Given the description of an element on the screen output the (x, y) to click on. 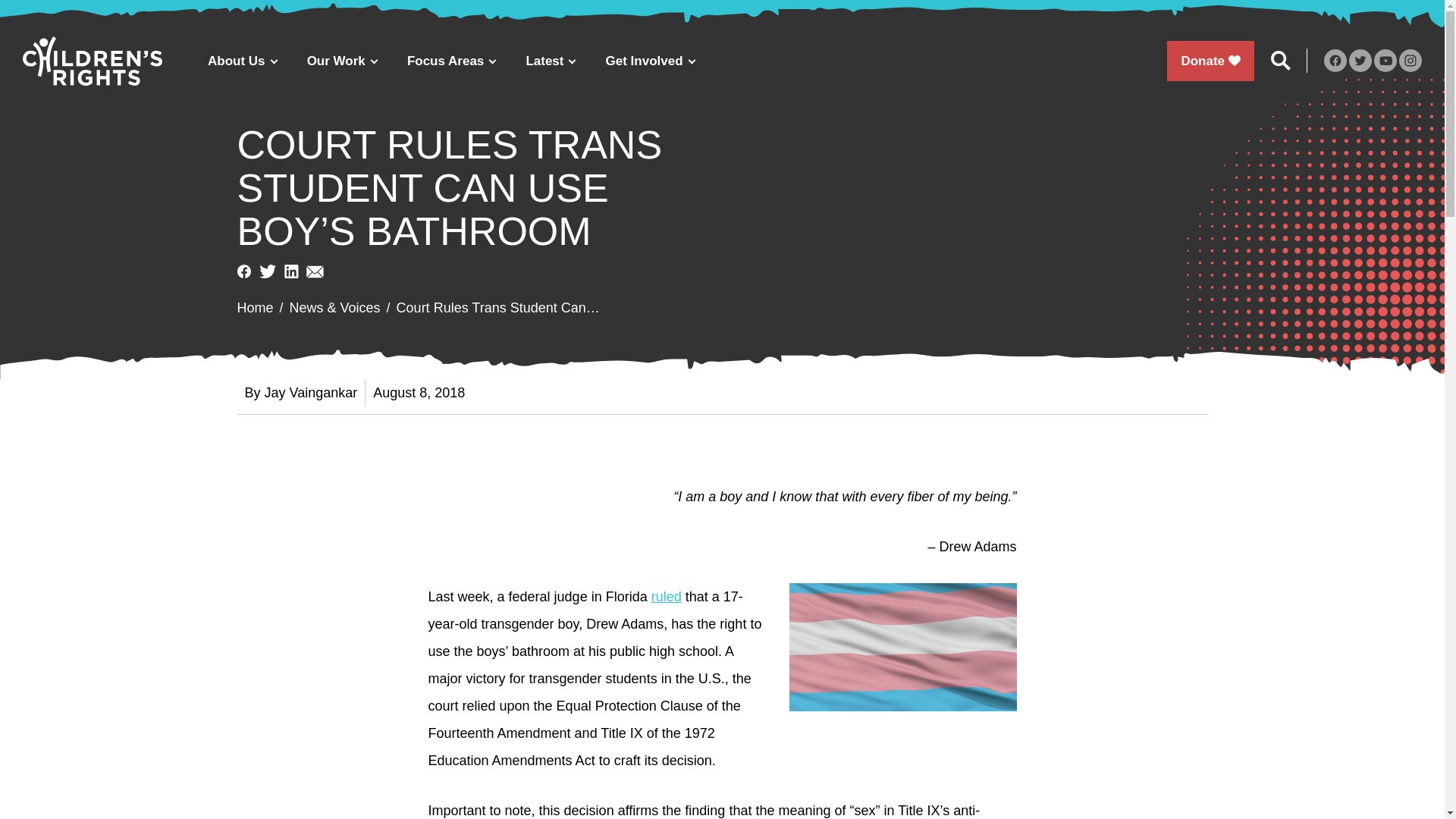
Share to Twitter (267, 271)
Share by Email (314, 271)
Share to LinkedIn (290, 271)
Our Work (341, 60)
homepage (92, 60)
Focus Areas (451, 60)
Get Involved (650, 60)
Latest (550, 60)
Share to Facebook (242, 271)
About Us (242, 60)
Donate (1210, 60)
